Given the description of an element on the screen output the (x, y) to click on. 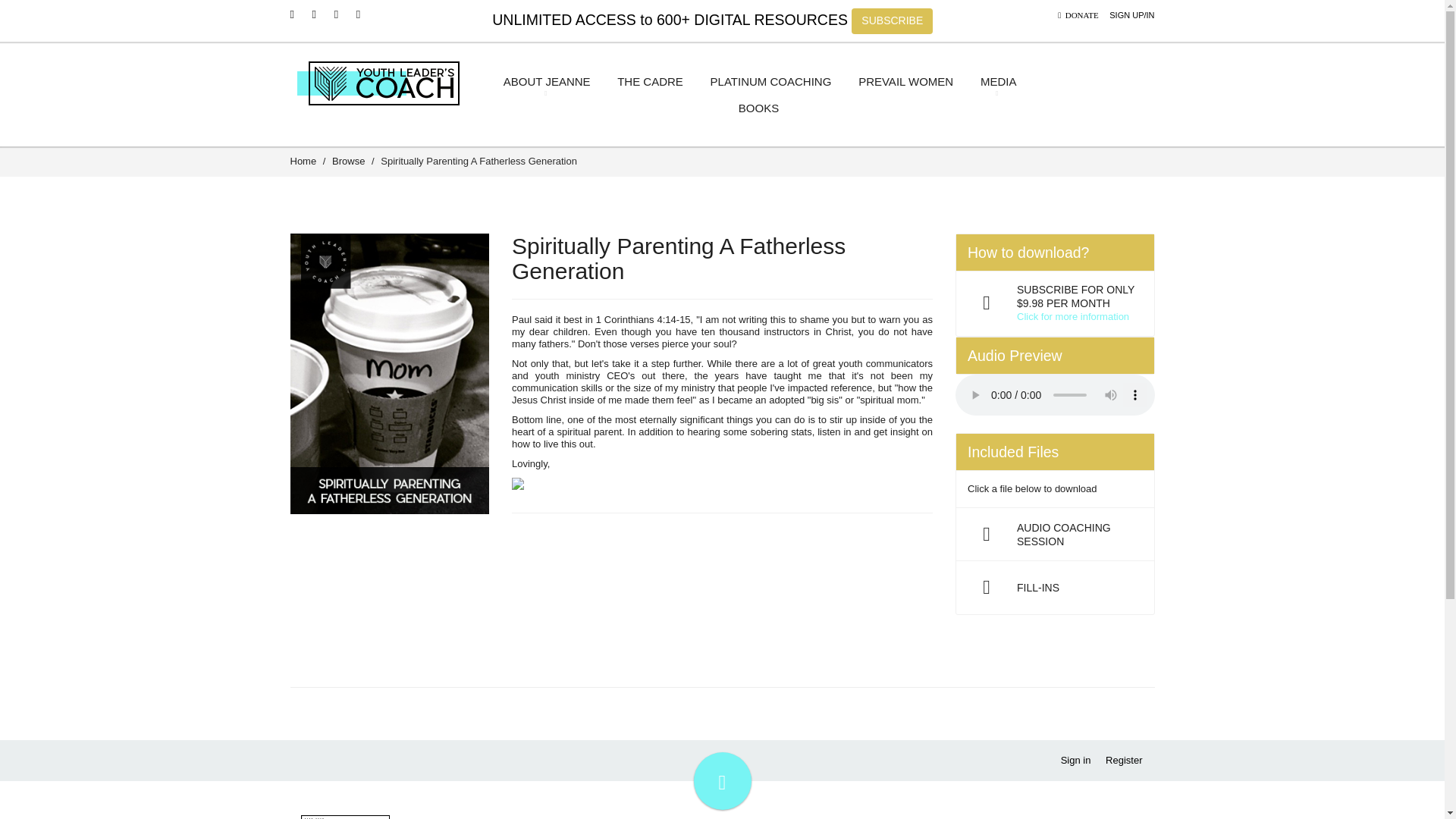
  DONATE (1077, 15)
 PREVAIL WOMEN (903, 84)
SUBSCRIBE (892, 21)
 MEDIA (996, 81)
AUDIO COACHING SESSION (1055, 534)
 THE CADRE (649, 84)
FILL-INS (1055, 587)
Sign in (1075, 759)
Click a file below to download (1055, 488)
 PLATINUM COACHING (768, 84)
